Given the description of an element on the screen output the (x, y) to click on. 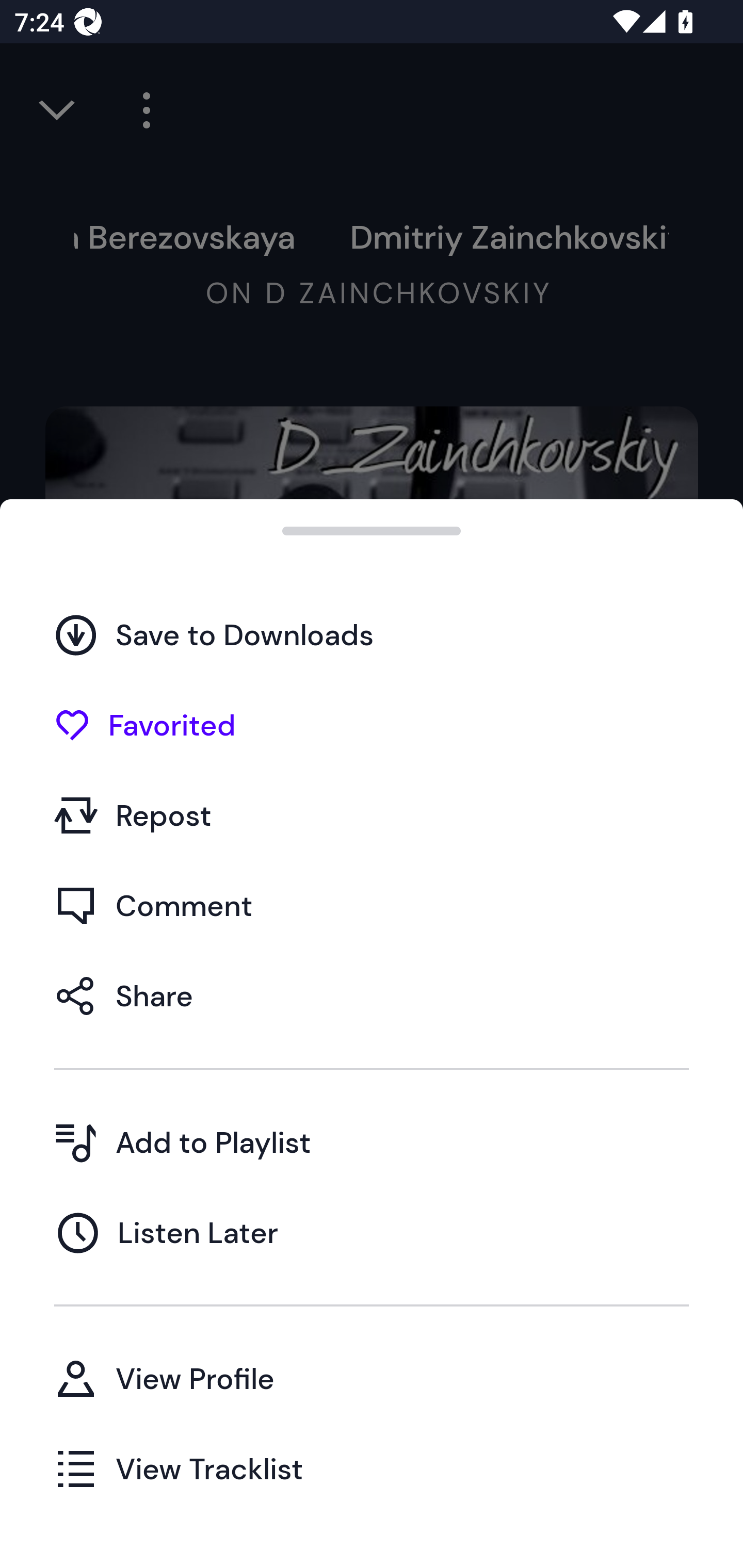
Save to Downloads (371, 634)
Favorited (371, 724)
Repost (371, 814)
Comment (371, 905)
Share (371, 995)
Add to Playlist (371, 1141)
Listen Later (371, 1231)
View Profile (371, 1377)
View Tracklist (371, 1468)
